Given the description of an element on the screen output the (x, y) to click on. 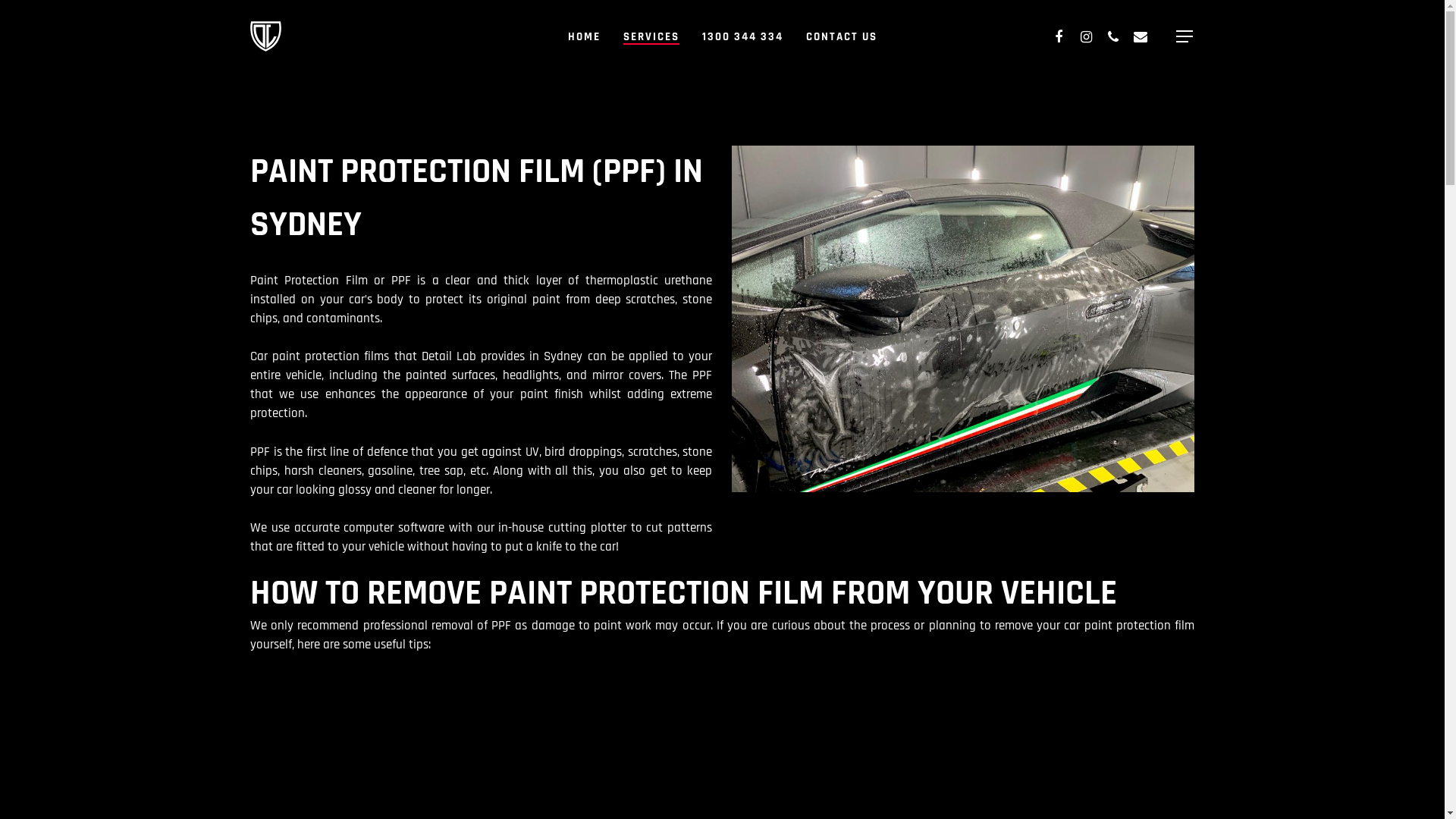
Car Window Tinting Element type: text (721, 594)
HOME Element type: text (583, 35)
Sitemap Element type: text (721, 632)
info@detaillab.com.au Element type: text (319, 537)
1300 344 334 Element type: text (742, 35)
Detailing Element type: text (721, 518)
CONTACT US Element type: text (840, 35)
1300 344 334 Element type: text (298, 518)
Ceramic Paint Protection Element type: text (721, 556)
Paint Correction Element type: text (721, 537)
Blog Element type: text (721, 613)
VH. Element type: text (375, 795)
Unit 28/28 Barcoo St Element type: text (316, 556)
Roseville 2069 Element type: text (288, 575)
Paint Protection Film Element type: text (721, 575)
SERVICES Element type: text (651, 35)
